Given the description of an element on the screen output the (x, y) to click on. 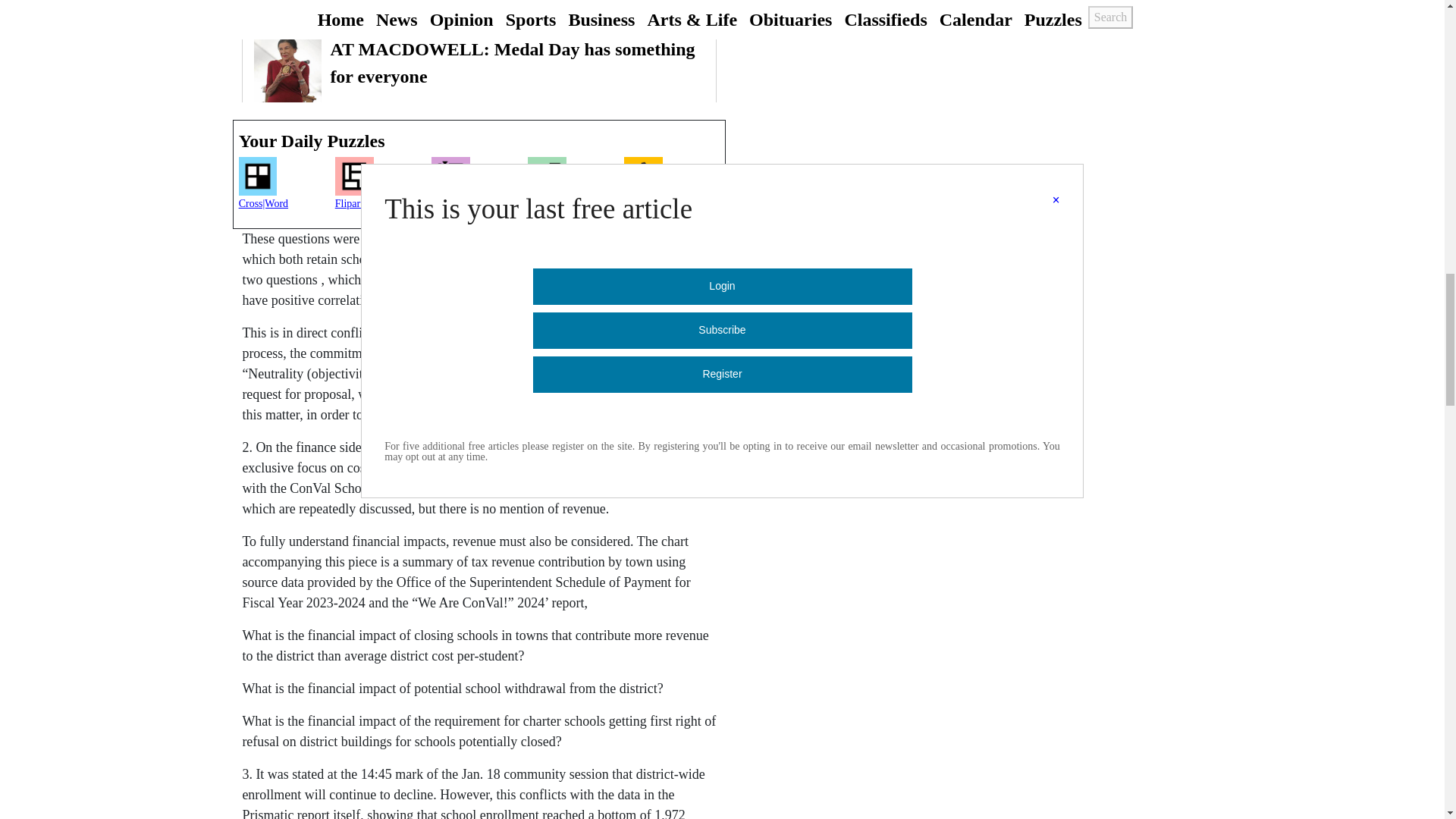
Flipart (382, 188)
Your Daily Puzzles (479, 140)
AT MACDOWELL: Medal Day has something for everyone (478, 69)
SpellTower (575, 188)
Really Bad Chess (672, 188)
Typeshift (478, 188)
